Given the description of an element on the screen output the (x, y) to click on. 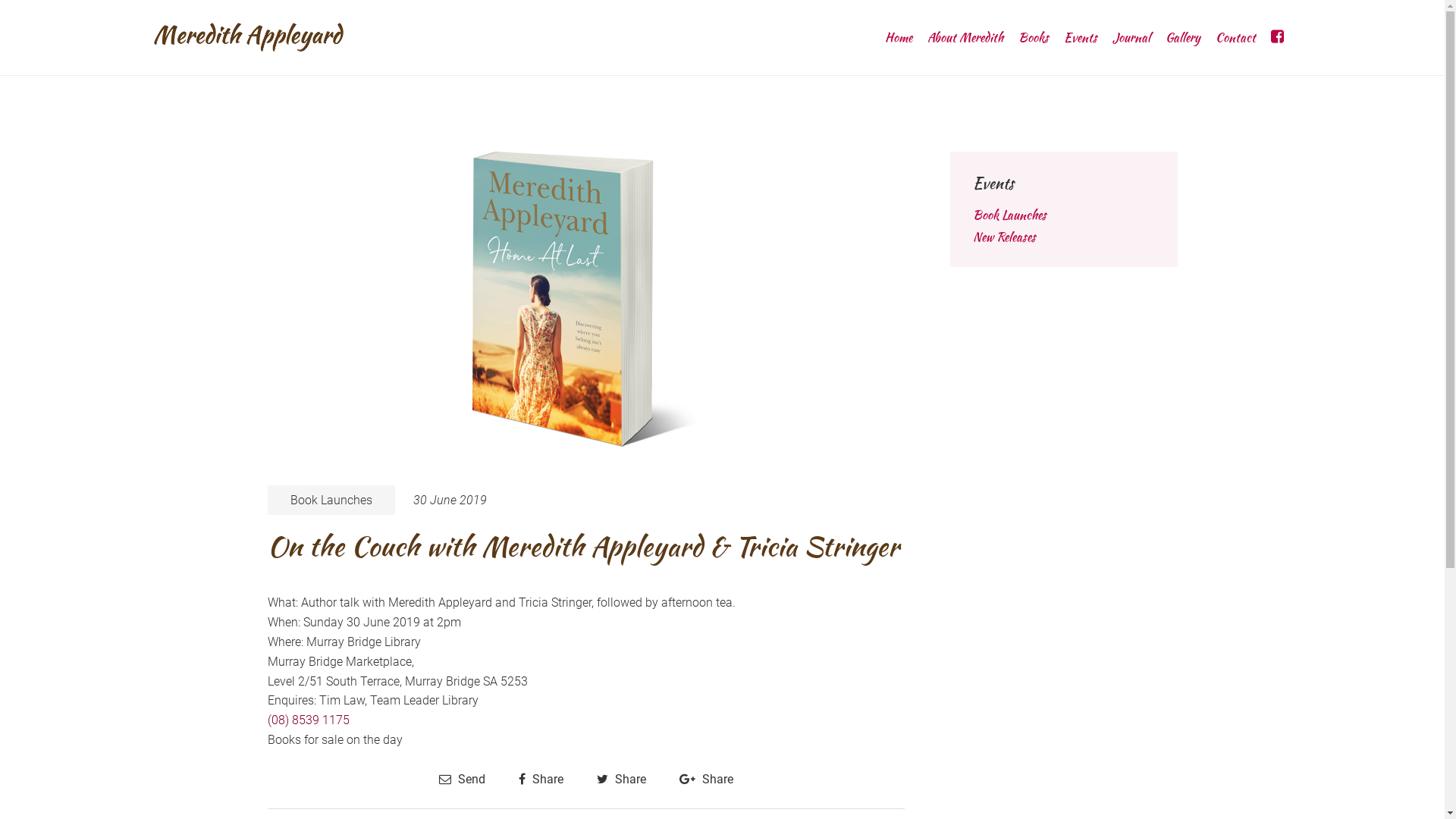
Share Element type: text (706, 778)
Events Element type: text (1079, 37)
Gallery Element type: text (1181, 37)
(08) 8539 1175 Element type: text (307, 719)
Journal Element type: text (1130, 37)
About Meredith Element type: text (964, 37)
Book Launches Element type: text (1008, 214)
Send Element type: text (461, 778)
Home Element type: text (897, 37)
Share Element type: text (620, 778)
Contact Element type: text (1234, 37)
Books Element type: text (1032, 37)
Share Element type: text (540, 778)
New Releases Element type: text (1003, 236)
Book Launches Element type: text (330, 499)
